Given the description of an element on the screen output the (x, y) to click on. 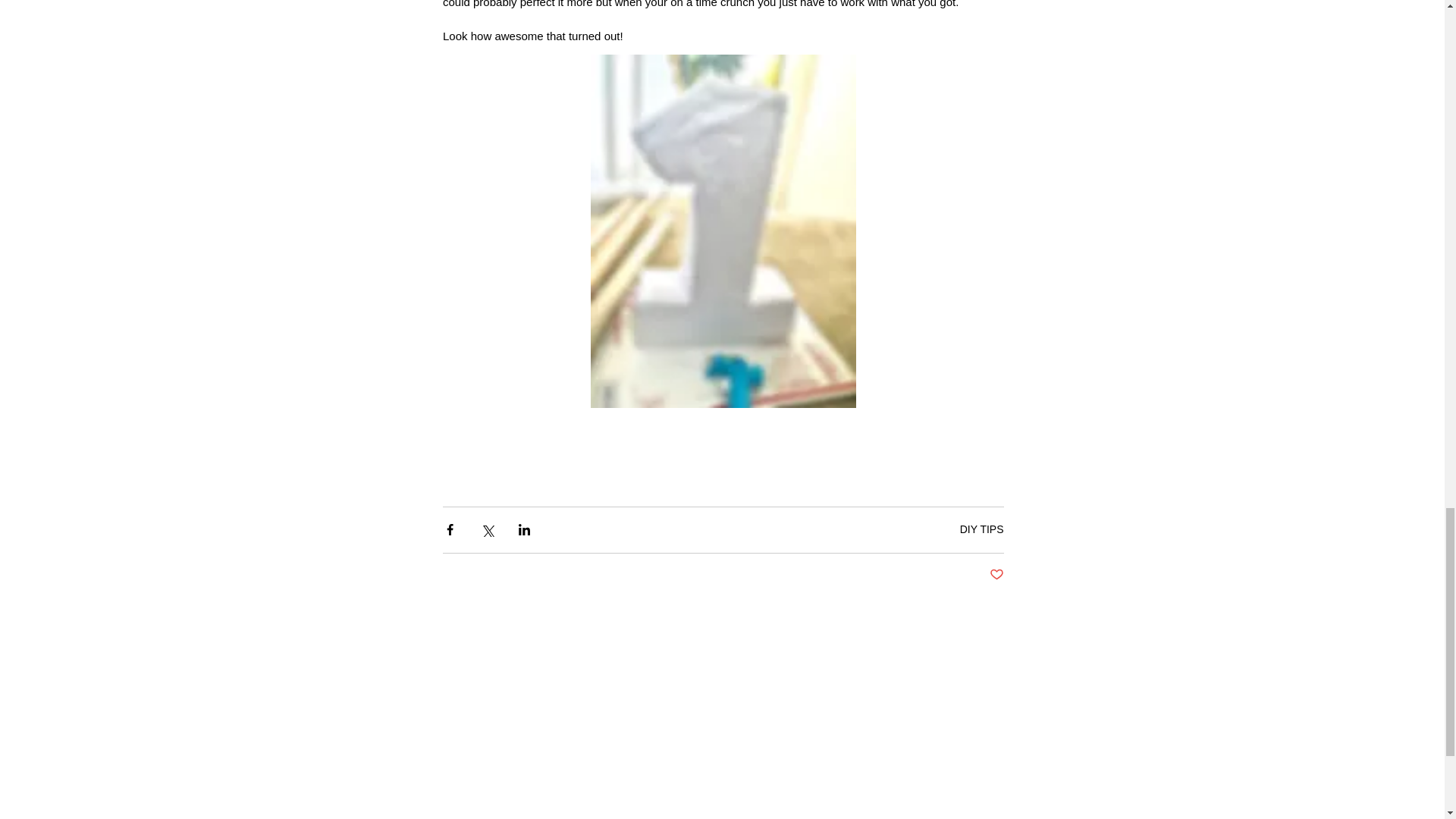
Post not marked as liked (995, 575)
DIY TIPS (981, 529)
